Given the description of an element on the screen output the (x, y) to click on. 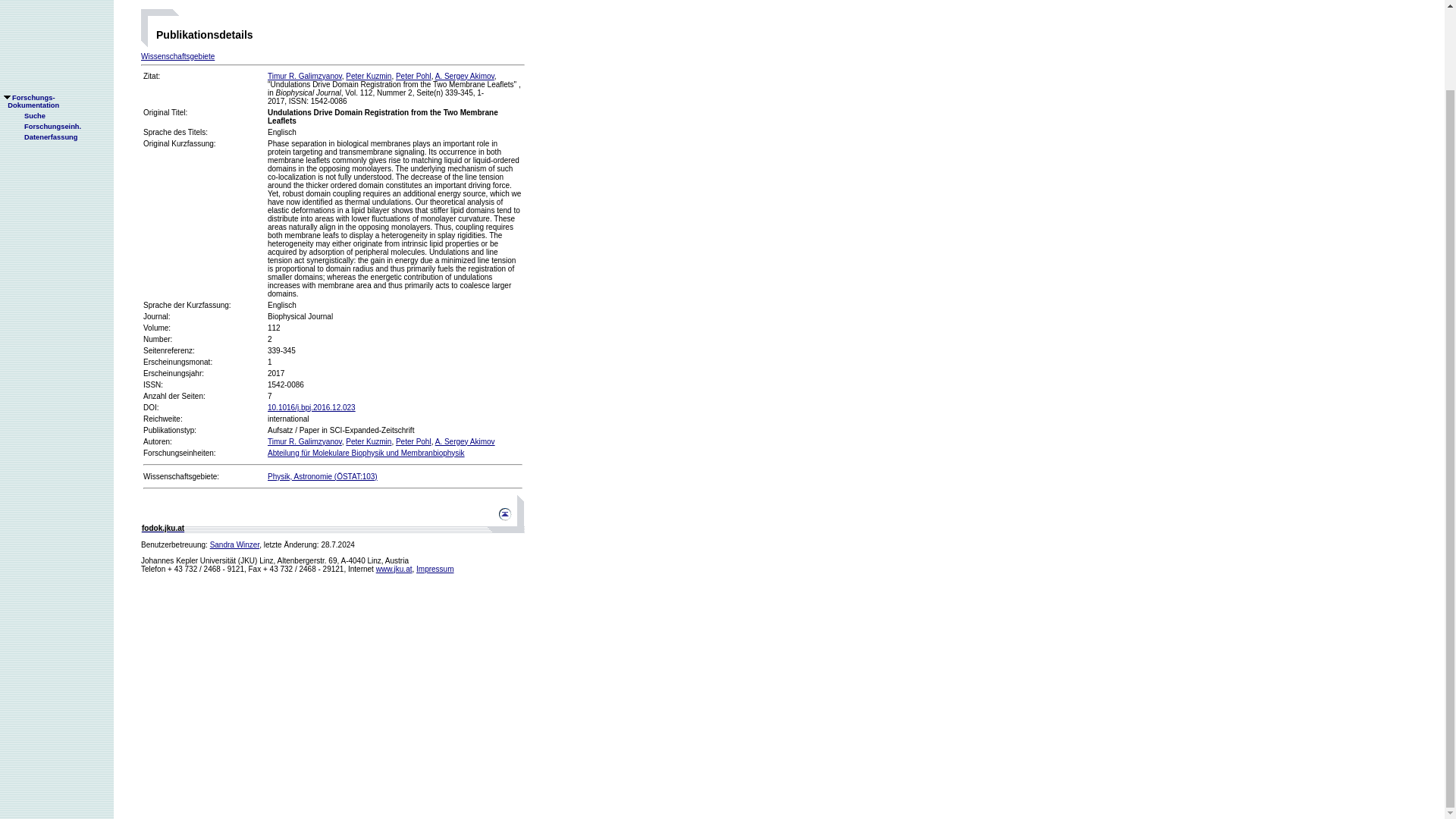
A. Sergey Akimov (465, 76)
fodok.jku.at (162, 528)
Sandra Winzer (234, 544)
Peter Kuzmin (368, 441)
Suche (28, 25)
Forschungseinh. (46, 36)
Peter Pohl (413, 76)
Peter Pohl (413, 441)
Impressum (434, 569)
Wissenschaftsgebiete: (180, 476)
A. Sergey Akimov (465, 441)
Timur R. Galimzyanov (304, 76)
www.jku.at (393, 569)
Datenerfassung (44, 46)
